Given the description of an element on the screen output the (x, y) to click on. 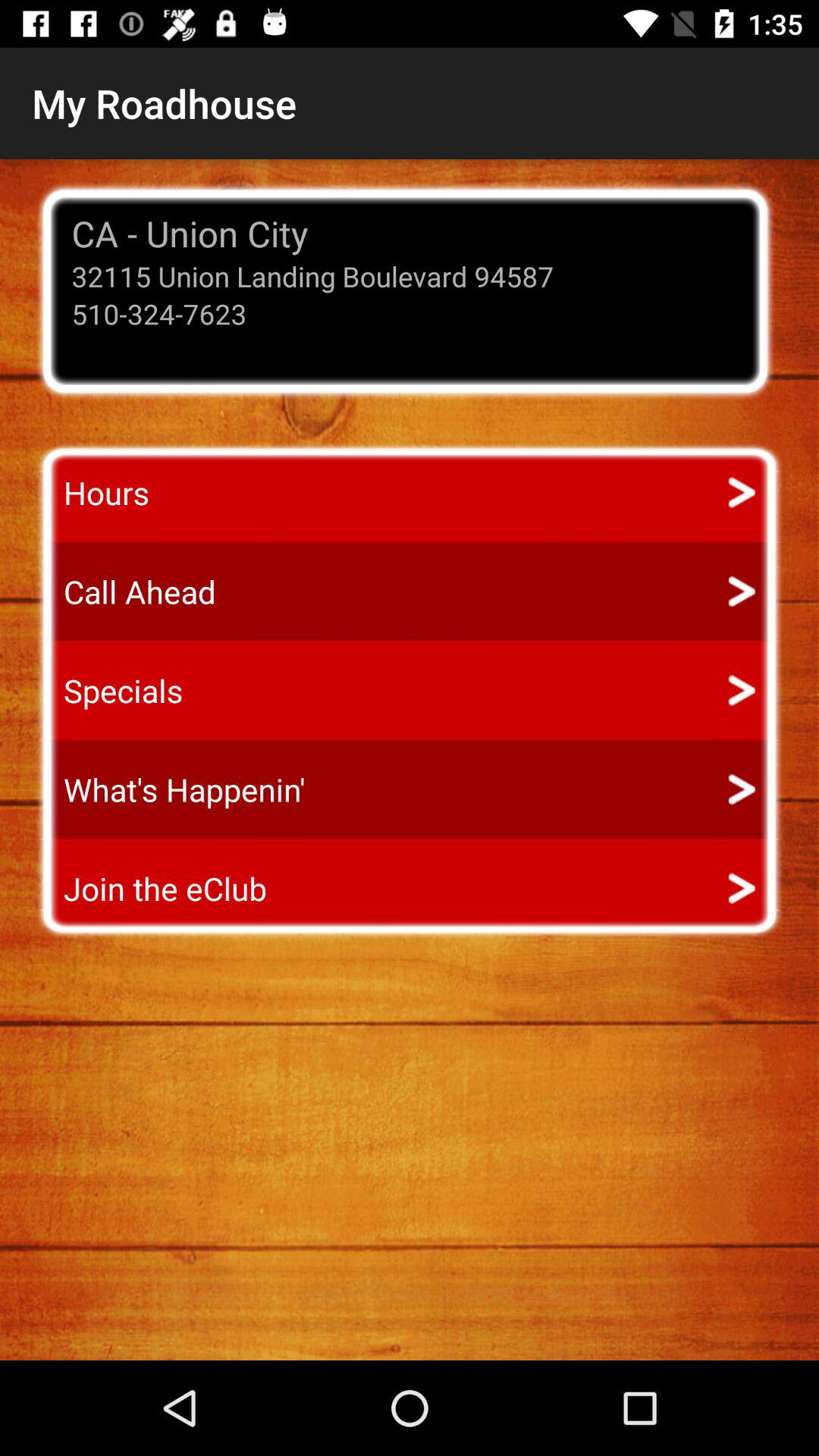
jump until the join the eclub (150, 888)
